Given the description of an element on the screen output the (x, y) to click on. 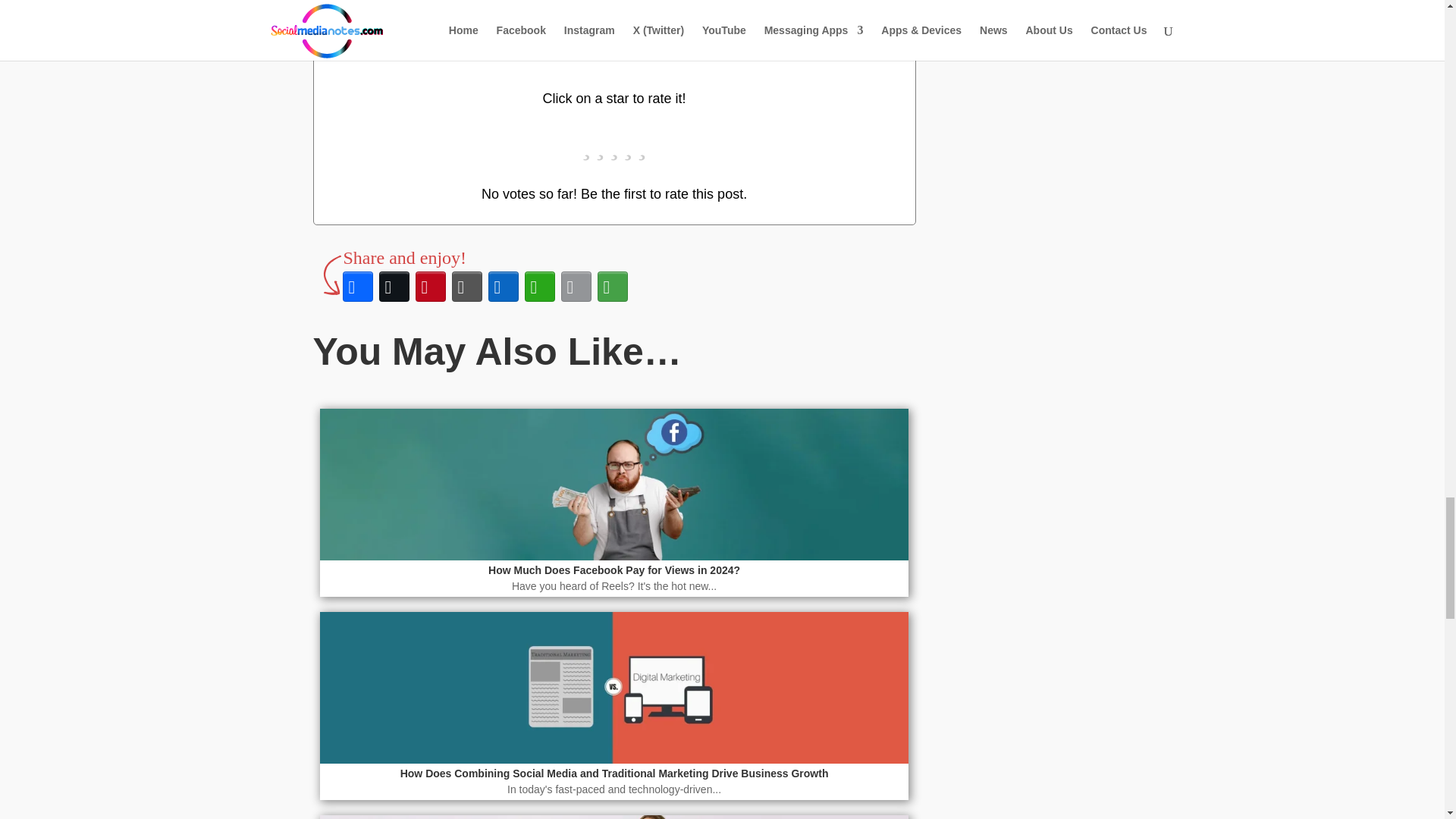
Pinterest (430, 286)
Facebook (357, 286)
